Given the description of an element on the screen output the (x, y) to click on. 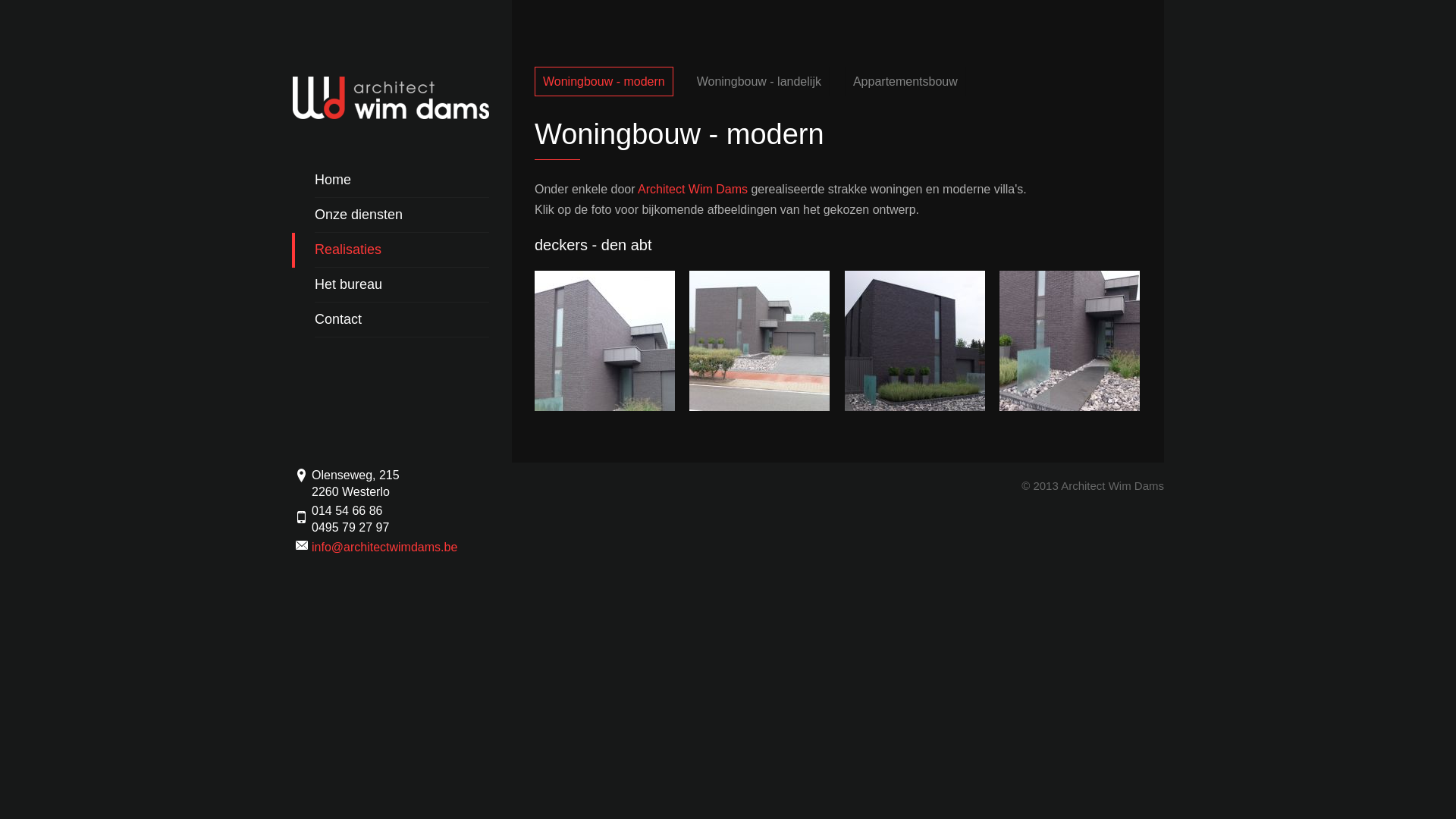
Onze diensten Element type: text (401, 214)
Woningbouw - landelijk Element type: text (758, 81)
 ::  Element type: hover (764, 406)
Home Element type: text (401, 180)
Woningbouw - modern Element type: text (603, 81)
Het bureau Element type: text (401, 284)
 ::  Element type: hover (1069, 406)
Realisaties Element type: text (401, 249)
Architect Wim Dams Element type: text (692, 188)
info@architectwimdams.be Element type: text (384, 546)
Appartementsbouw Element type: text (905, 81)
 ::  Element type: hover (920, 406)
Contact Element type: text (401, 319)
